Given the description of an element on the screen output the (x, y) to click on. 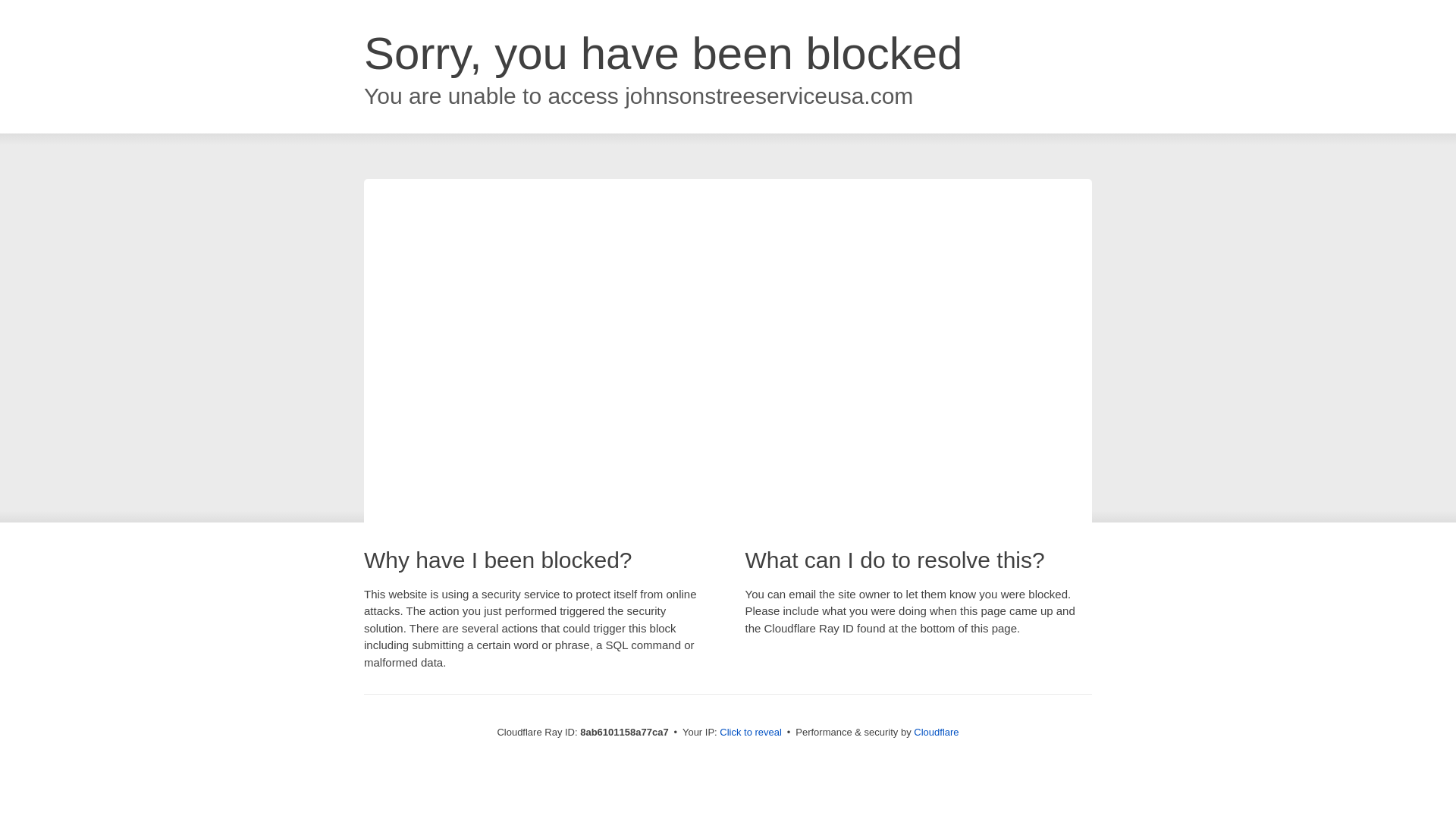
Cloudflare (936, 731)
Click to reveal (750, 732)
